Given the description of an element on the screen output the (x, y) to click on. 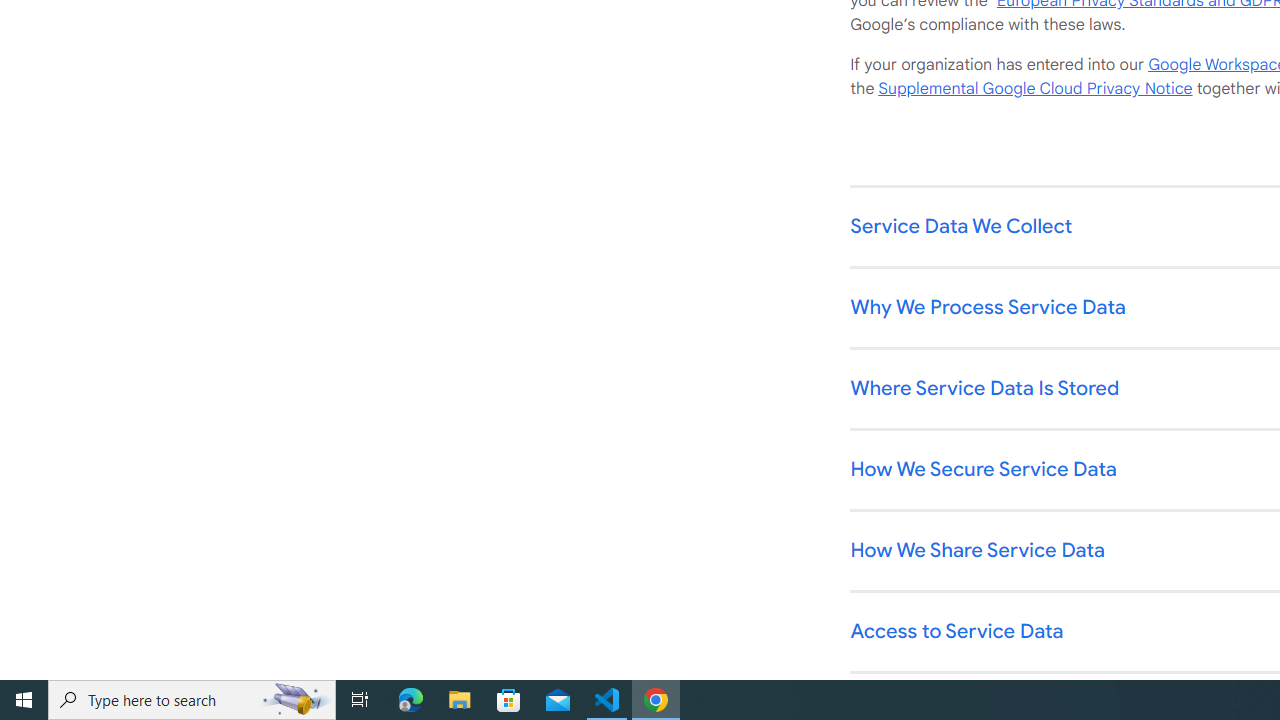
Supplemental Google Cloud Privacy Notice (1035, 89)
